Given the description of an element on the screen output the (x, y) to click on. 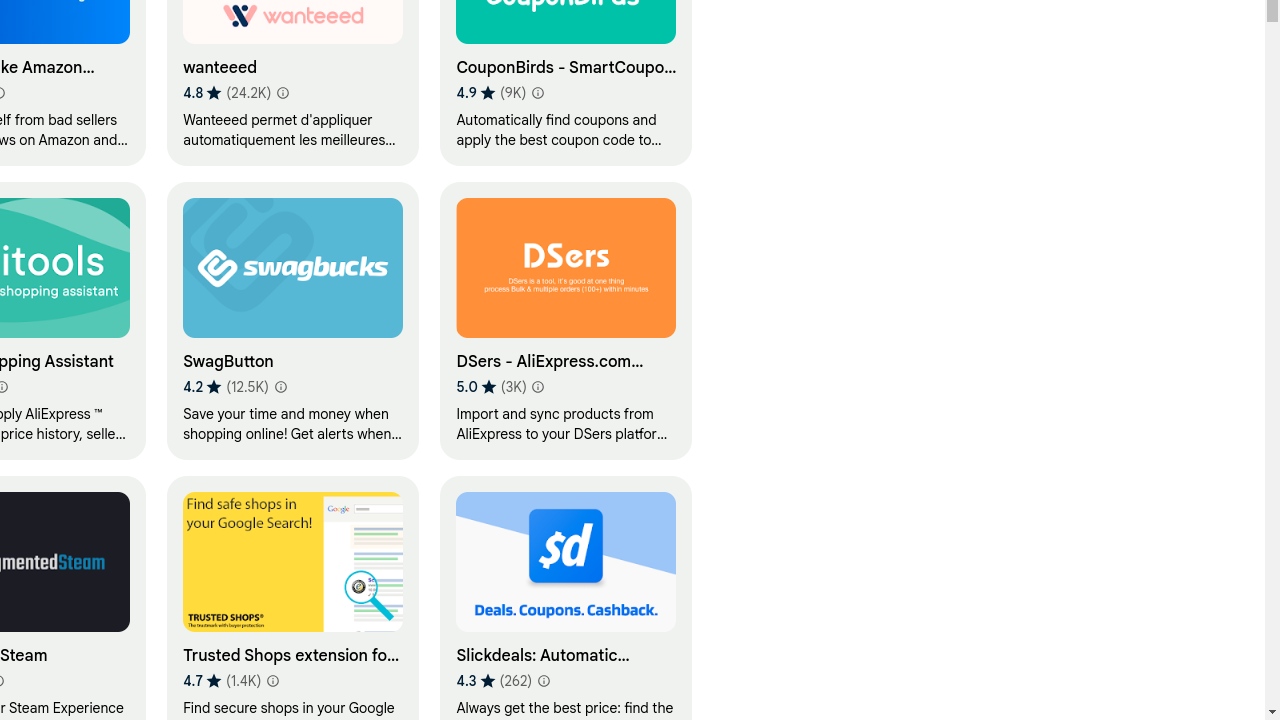
Learn more about results and reviews "DSers - AliExpress.com Product Importer" Element type: push-button (538, 387)
Learn more about results and reviews "CouponBirds - SmartCoupon Coupon Finder" Element type: push-button (537, 93)
Learn more about results and reviews "wanteeed" Element type: push-button (282, 93)
